Given the description of an element on the screen output the (x, y) to click on. 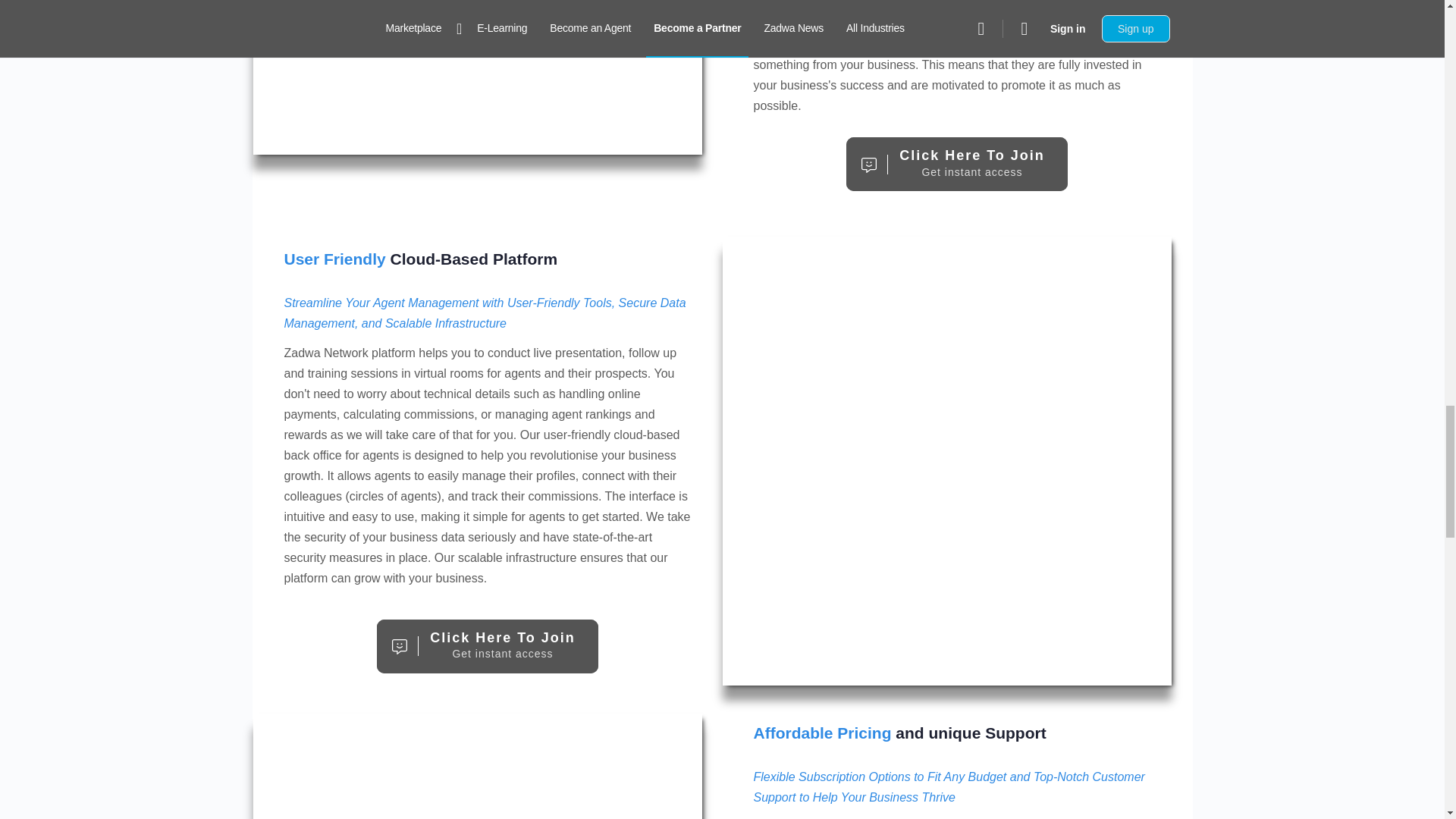
Pricing (477, 766)
Zadwa Agents (487, 646)
